Given the description of an element on the screen output the (x, y) to click on. 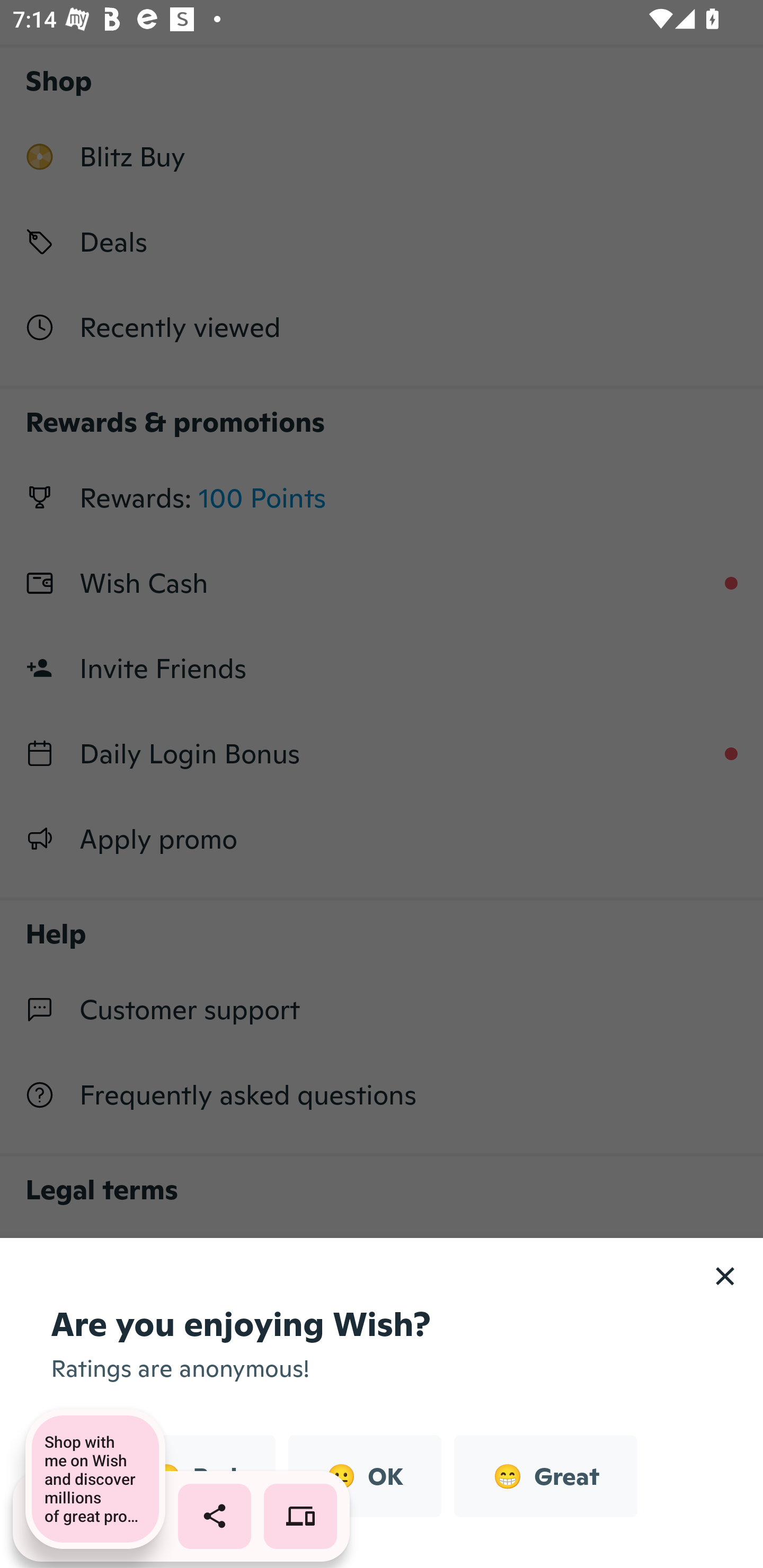
😐  OK (364, 1475)
😁  Great (545, 1475)
